Given the description of an element on the screen output the (x, y) to click on. 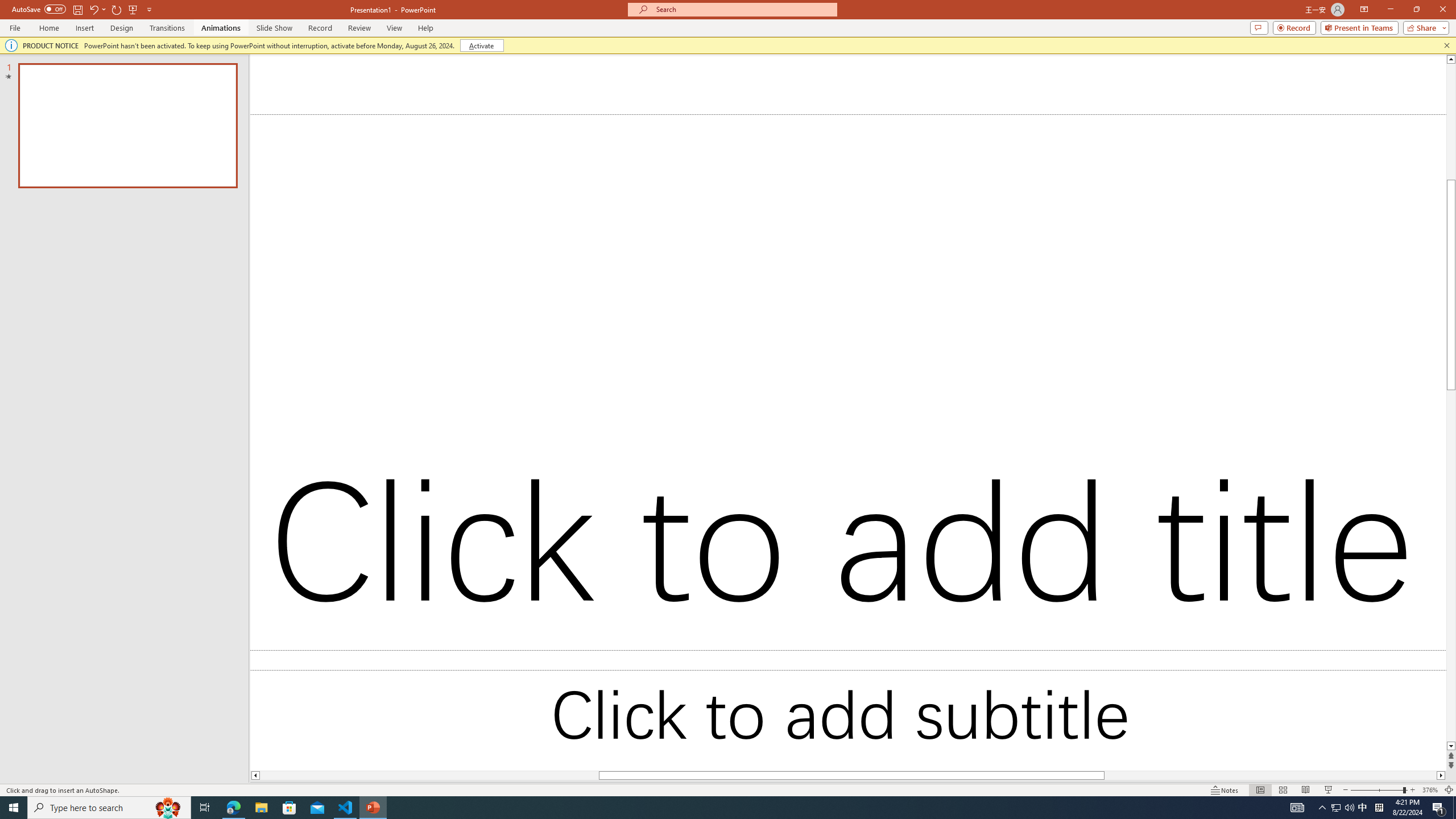
Clear All (1369, 178)
Task Pane Options (1402, 152)
Text Highlight Color (288, 102)
Distributed (496, 102)
Row Down (1025, 92)
Subtle Reference (1369, 456)
Align Right (452, 102)
Justify (474, 102)
